Given the description of an element on the screen output the (x, y) to click on. 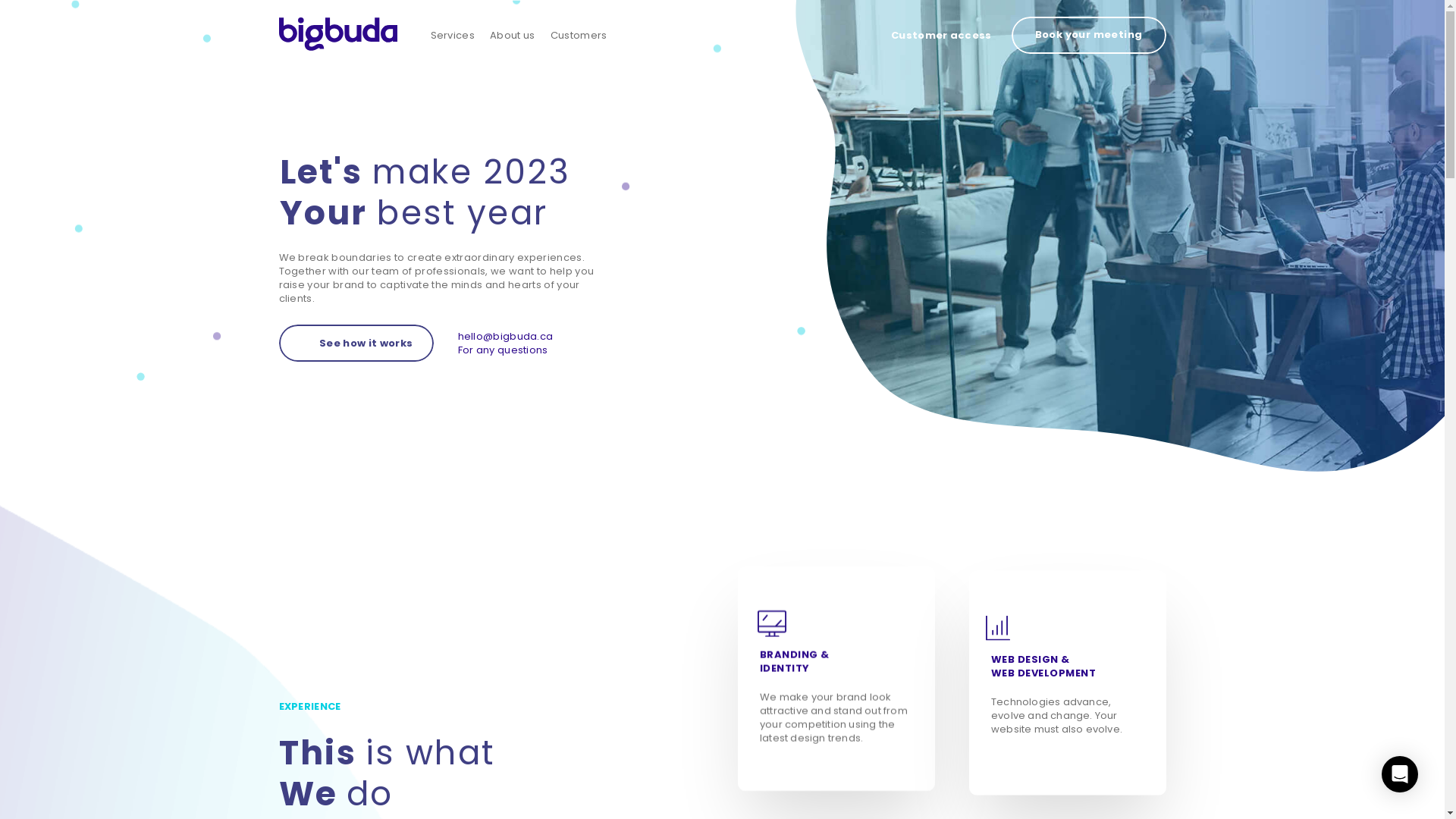
See how it works Element type: text (356, 342)
Book your meeting Element type: text (1088, 34)
Customers Element type: text (578, 36)
hello@bigbuda.ca Element type: text (505, 336)
Customer access Element type: text (940, 36)
About us Element type: text (512, 36)
Services Element type: text (453, 36)
